Given the description of an element on the screen output the (x, y) to click on. 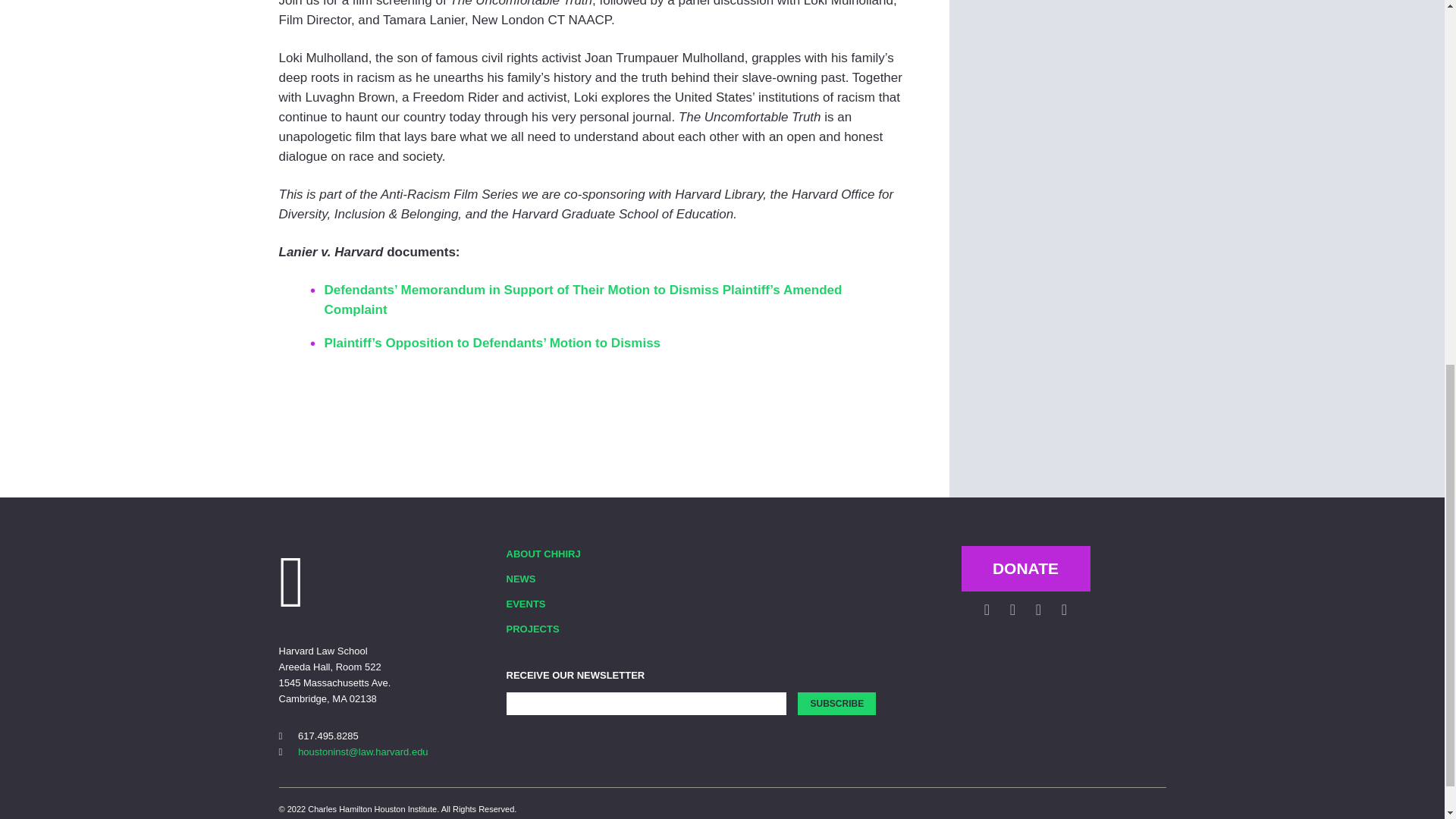
DONATE (1025, 568)
EVENTS (559, 603)
PROJECTS (559, 628)
YouTube (1038, 609)
Subscribe (836, 703)
ABOUT CHHIRJ (559, 553)
NEWS (559, 578)
Medium (1064, 609)
Facebook (986, 609)
Twitter (1011, 609)
Subscribe (836, 703)
